Given the description of an element on the screen output the (x, y) to click on. 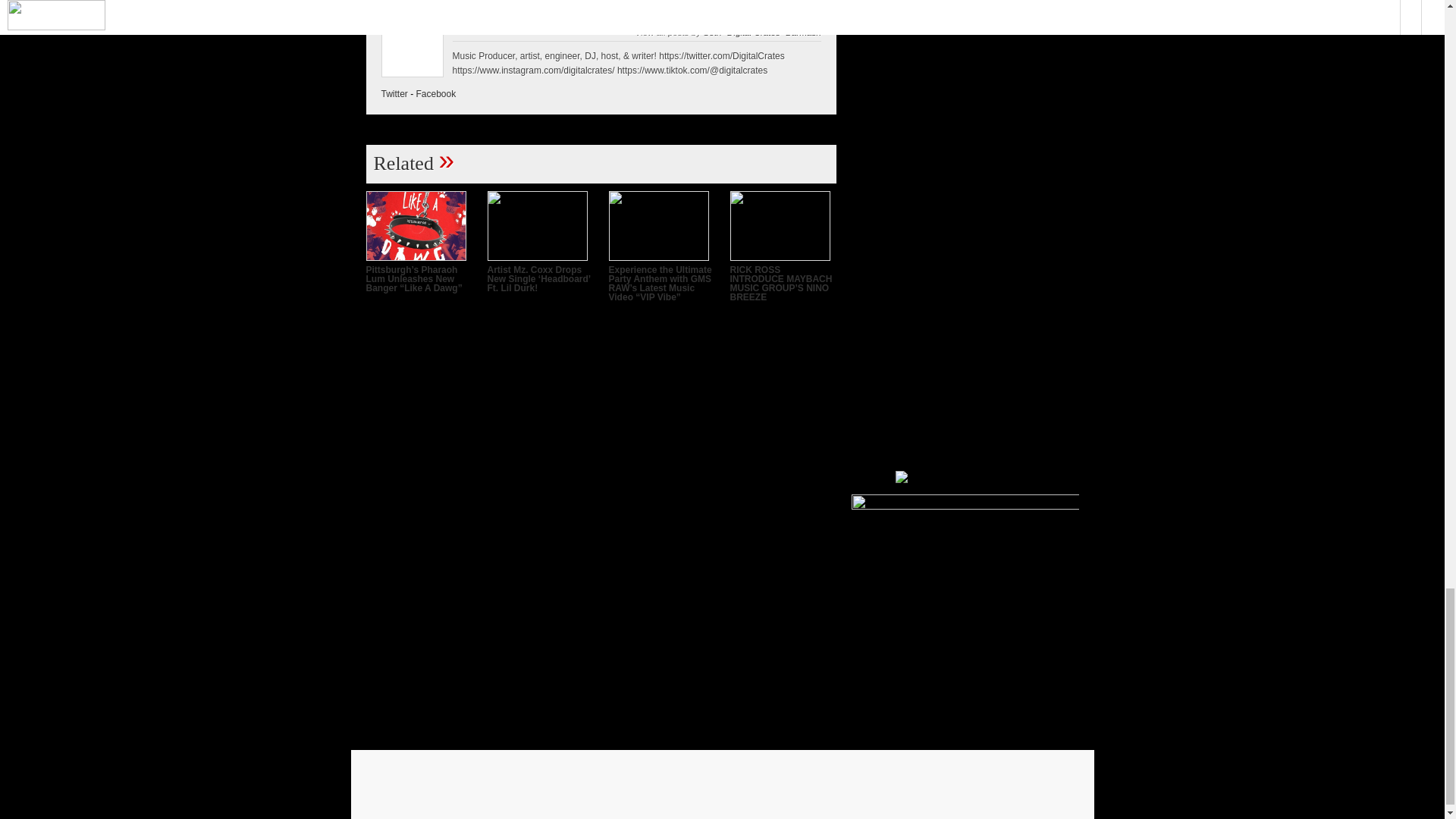
Facebook (436, 93)
Twitter (393, 93)
Posts by Seth "Digital Crates" Barmash (762, 31)
Seth "Digital Crates" Barmash (762, 31)
Seth "Digital Crates" Barmash (607, 21)
Posts by Seth "Digital Crates" Barmash (607, 21)
